Given the description of an element on the screen output the (x, y) to click on. 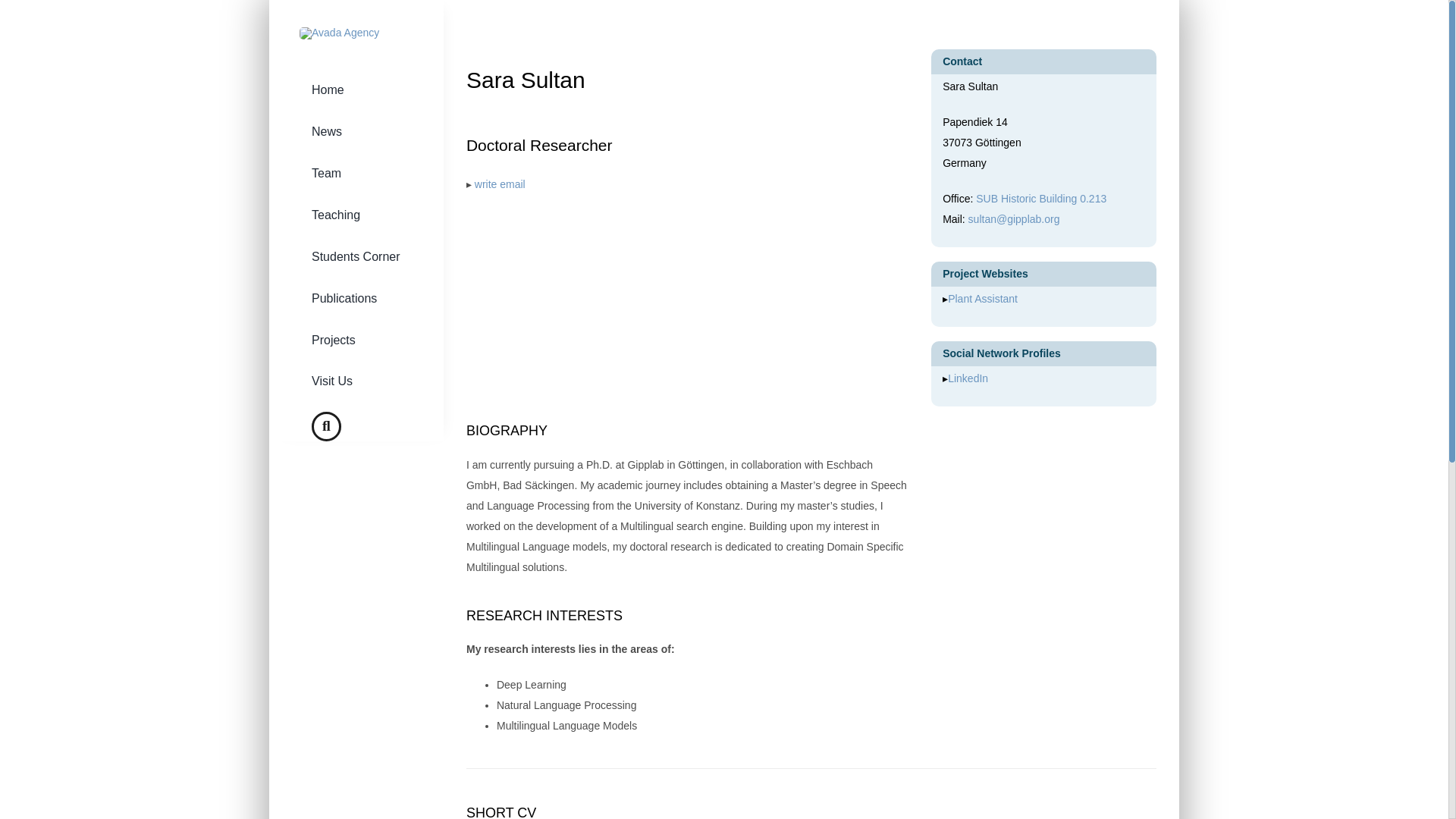
Team (355, 173)
write email (499, 184)
write email (499, 184)
Home (355, 90)
SUB Historic Building 0.213 (1040, 198)
Visit Us (355, 381)
Projects (355, 340)
News (355, 132)
Publications (355, 299)
Teaching (355, 215)
